Given the description of an element on the screen output the (x, y) to click on. 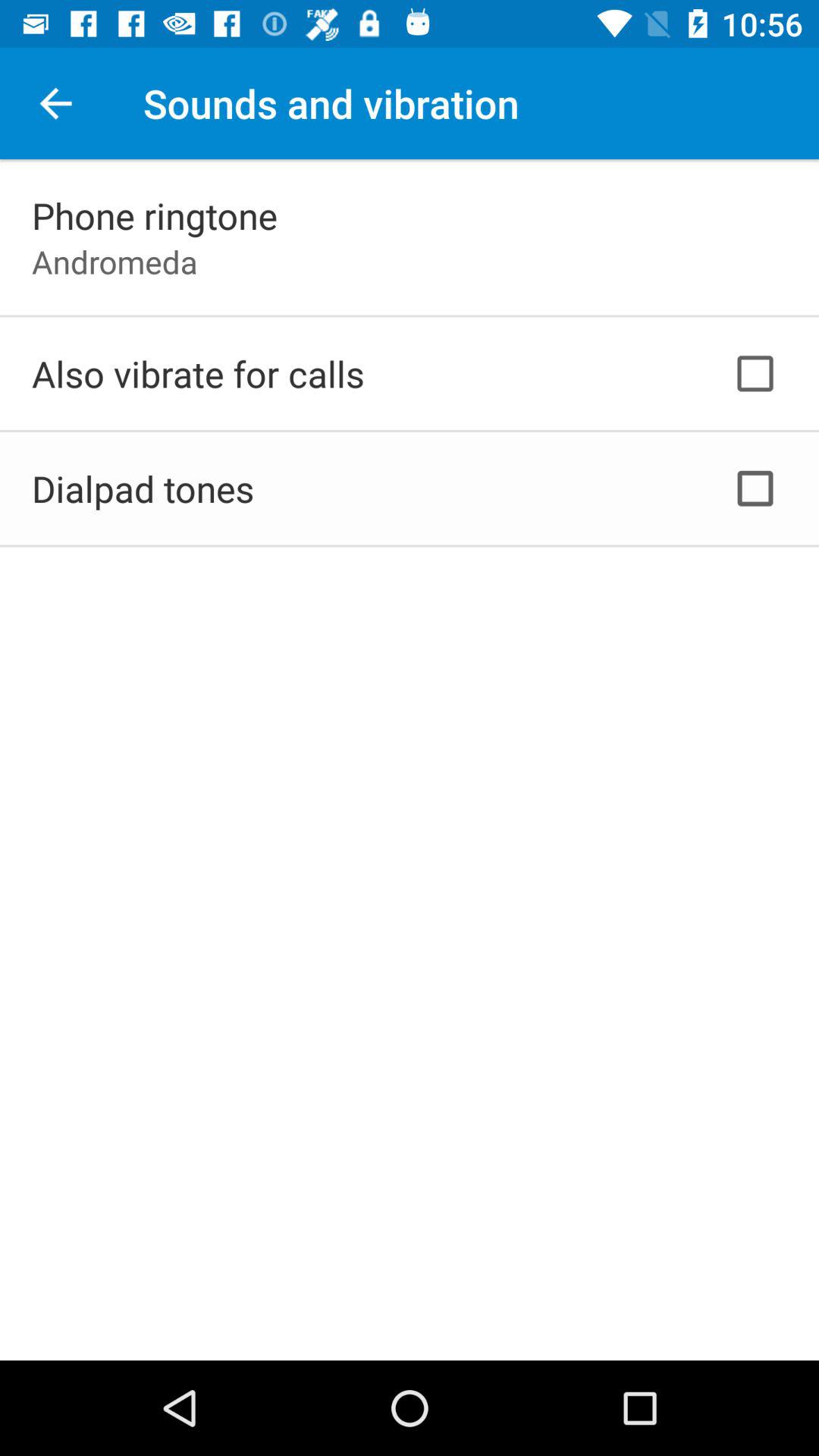
press the item above the dialpad tones item (197, 373)
